Given the description of an element on the screen output the (x, y) to click on. 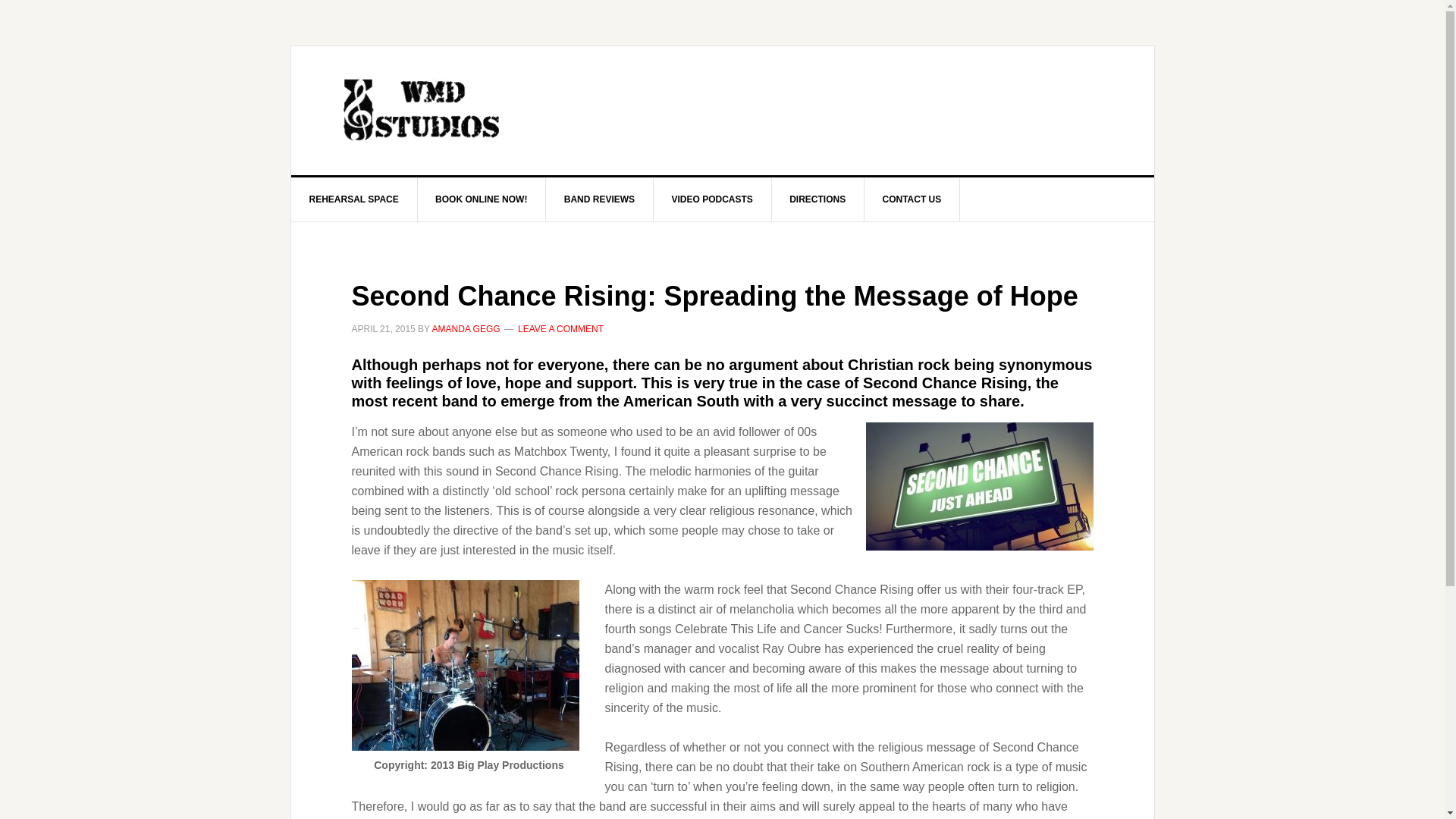
BAND REVIEWS (599, 199)
LEAVE A COMMENT (561, 328)
AMANDA GEGG (466, 328)
WMD STUDIOS (419, 110)
BOOK ONLINE NOW! (481, 199)
REHEARSAL SPACE (354, 199)
CONTACT US (912, 199)
VIDEO PODCASTS (711, 199)
Second Chance Rising: Spreading the Message of Hope (715, 296)
DIRECTIONS (817, 199)
